Given the description of an element on the screen output the (x, y) to click on. 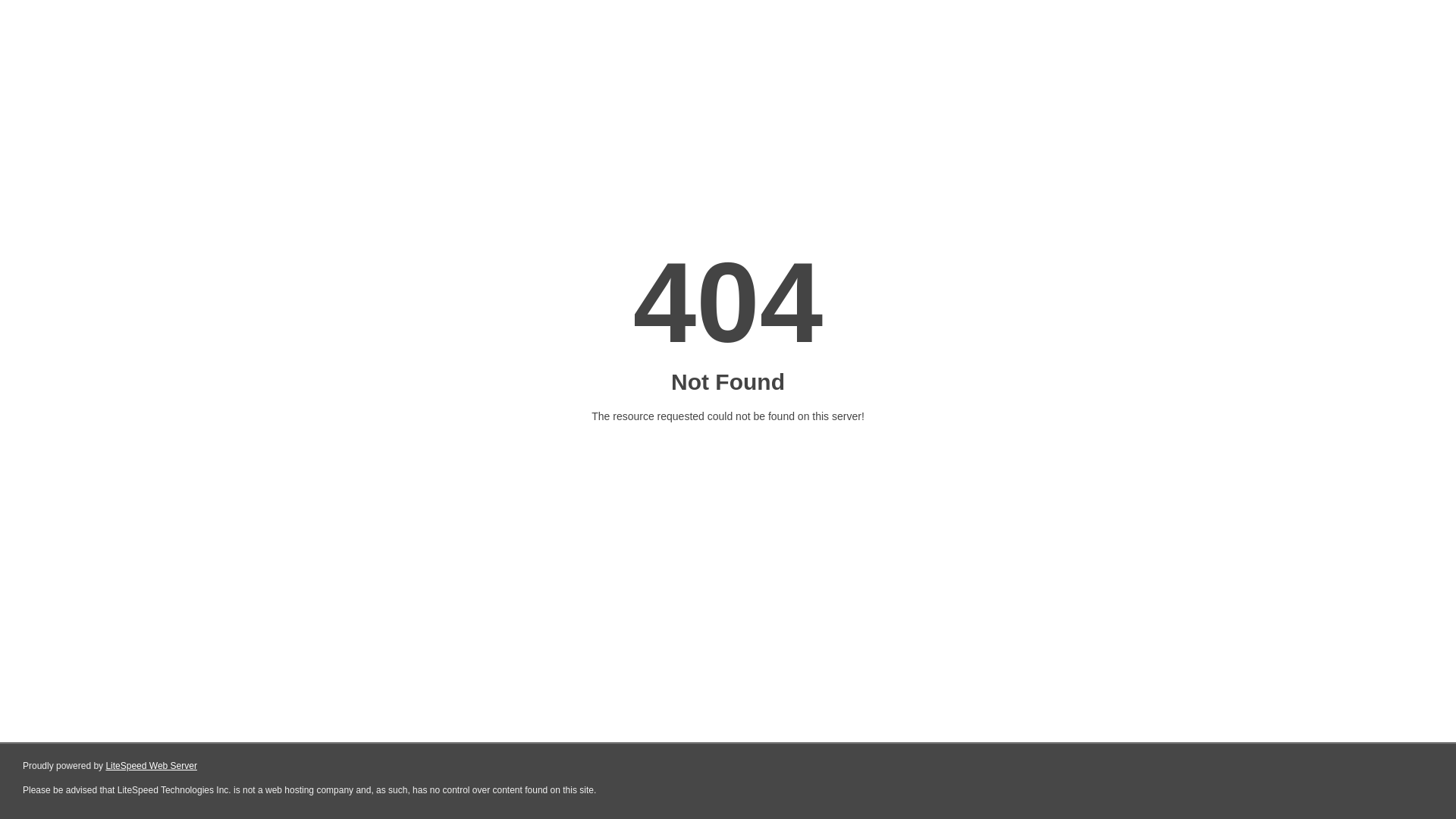
LiteSpeed Web Server Element type: text (151, 765)
